Given the description of an element on the screen output the (x, y) to click on. 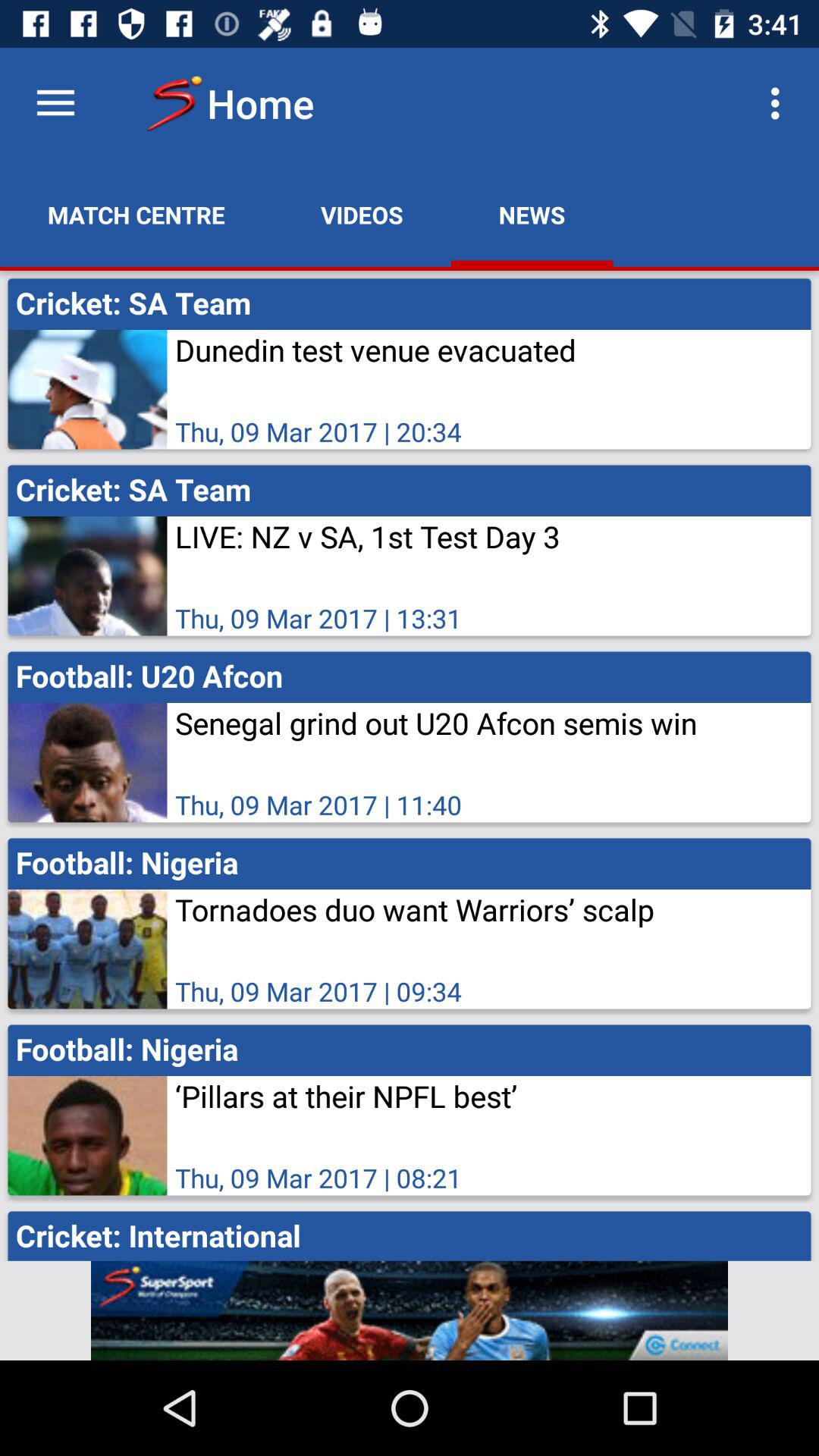
men (409, 1310)
